Given the description of an element on the screen output the (x, y) to click on. 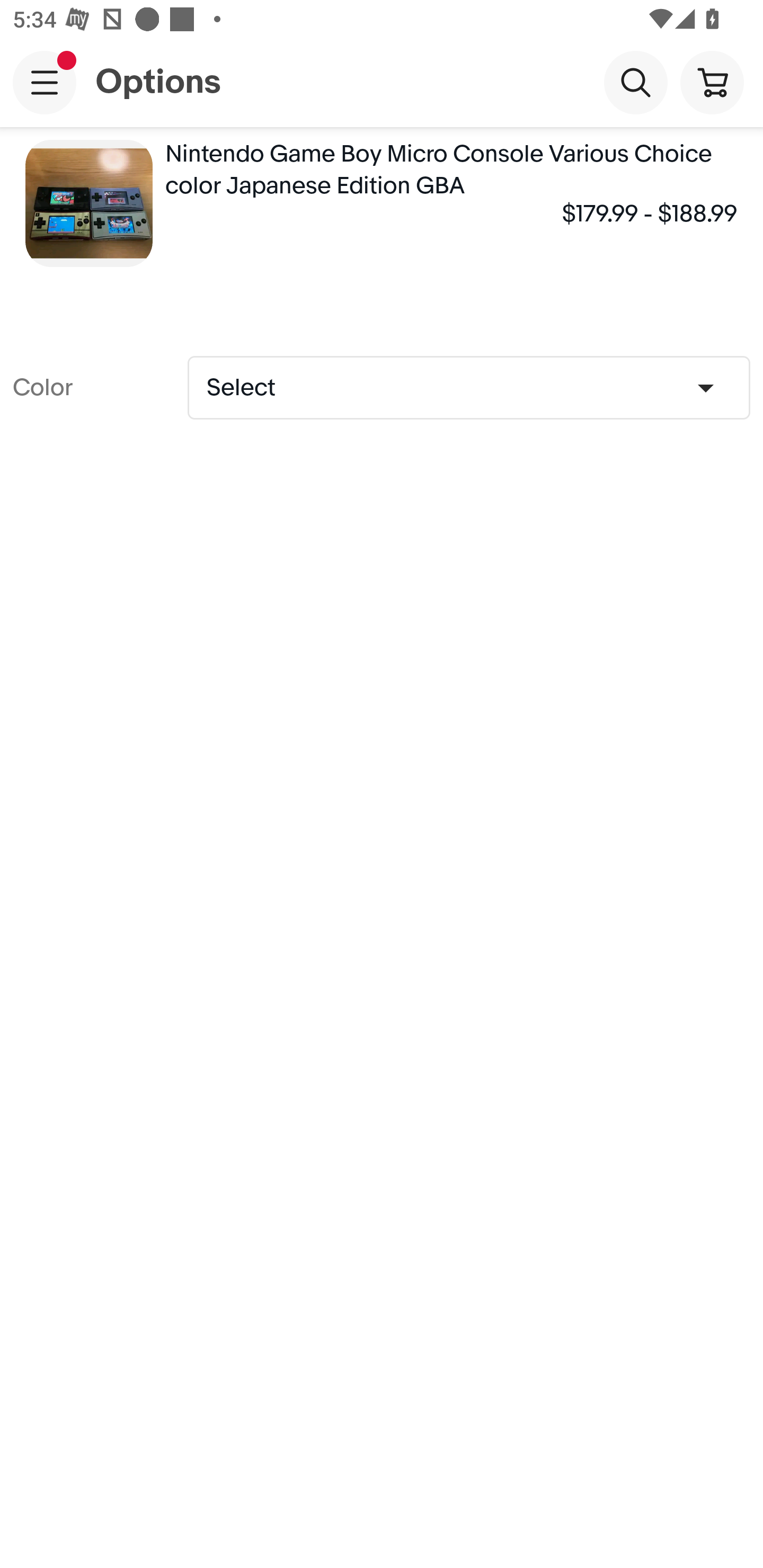
Main navigation, notification is pending, open (44, 82)
Search (635, 81)
Cart button shopping cart (711, 81)
Color,No selection Select (468, 387)
